Given the description of an element on the screen output the (x, y) to click on. 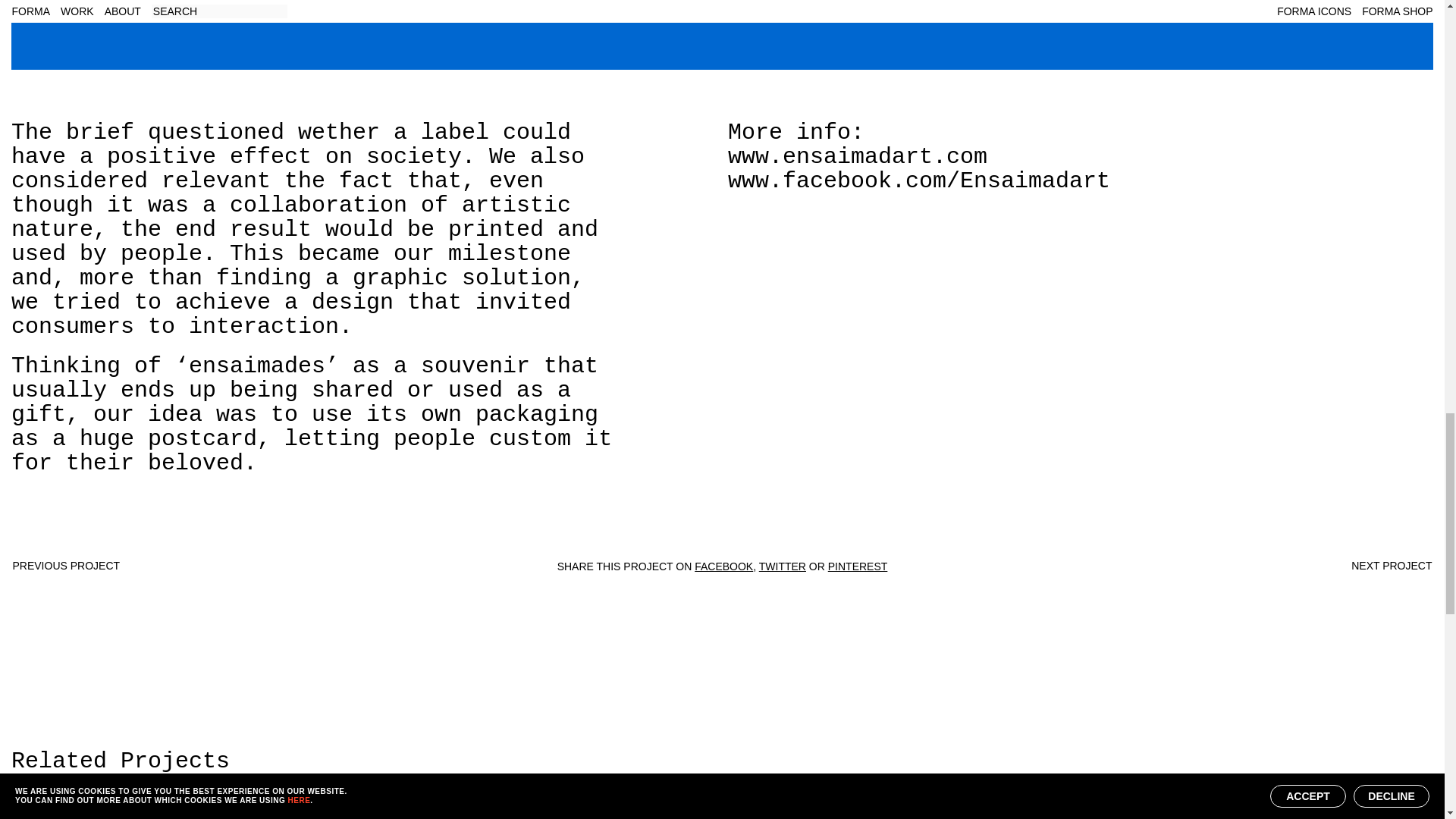
NEXT PROJECT (1391, 565)
PINTEREST (858, 566)
www.ensaimadart.com (857, 156)
TWITTER (782, 566)
PREVIOUS PROJECT (65, 565)
FACEBOOK (723, 566)
